Given the description of an element on the screen output the (x, y) to click on. 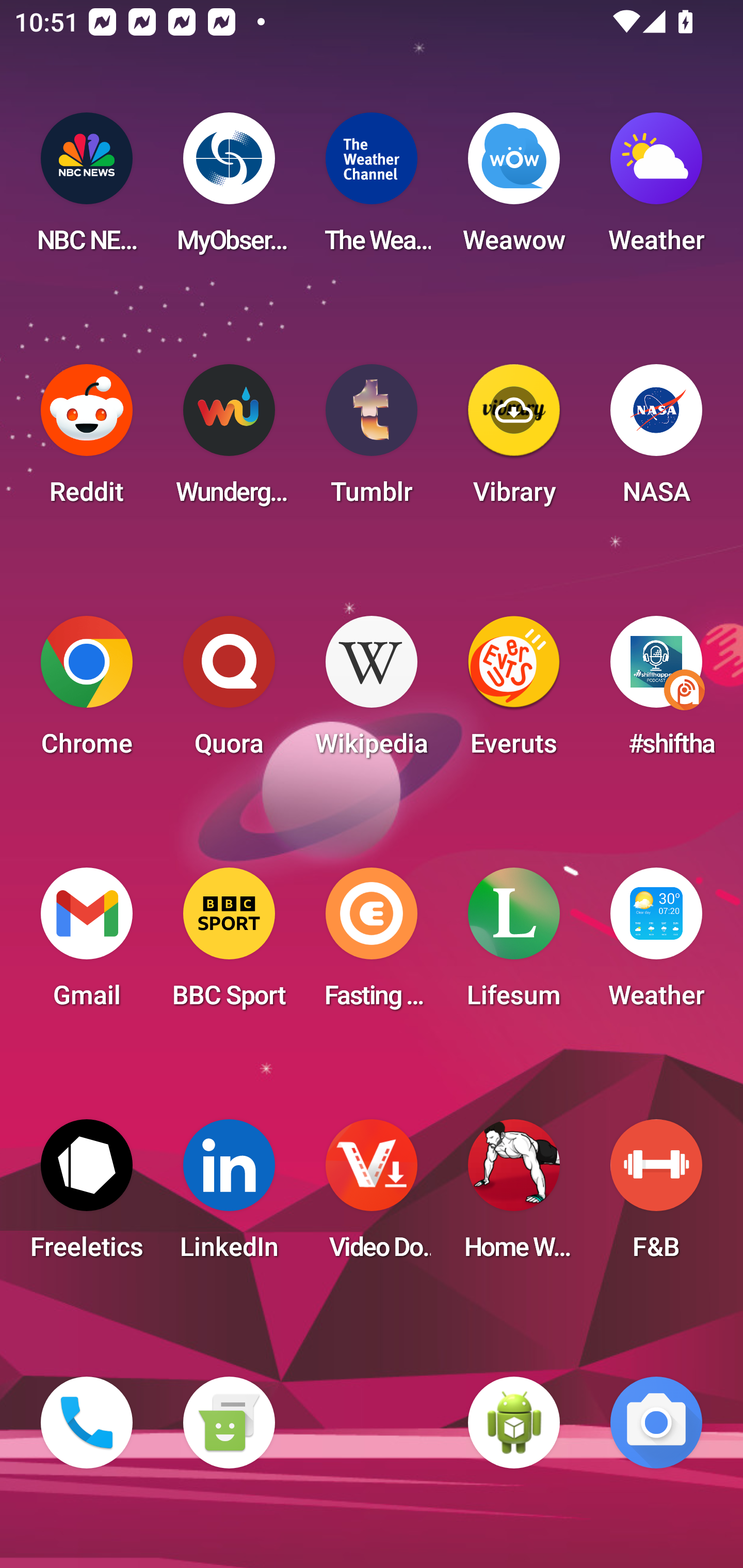
NBC NEWS (86, 188)
MyObservatory (228, 188)
The Weather Channel (371, 188)
Weawow (513, 188)
Weather (656, 188)
Reddit (86, 440)
Wunderground (228, 440)
Tumblr (371, 440)
Vibrary (513, 440)
NASA (656, 440)
Chrome (86, 692)
Quora (228, 692)
Wikipedia (371, 692)
Everuts (513, 692)
#shifthappens in the Digital Workplace Podcast (656, 692)
Gmail (86, 943)
BBC Sport (228, 943)
Fasting Coach (371, 943)
Lifesum (513, 943)
Weather (656, 943)
Freeletics (86, 1195)
LinkedIn (228, 1195)
Video Downloader & Ace Player (371, 1195)
Home Workout (513, 1195)
F&B (656, 1195)
Phone (86, 1422)
Messaging (228, 1422)
WebView Browser Tester (513, 1422)
Camera (656, 1422)
